Given the description of an element on the screen output the (x, y) to click on. 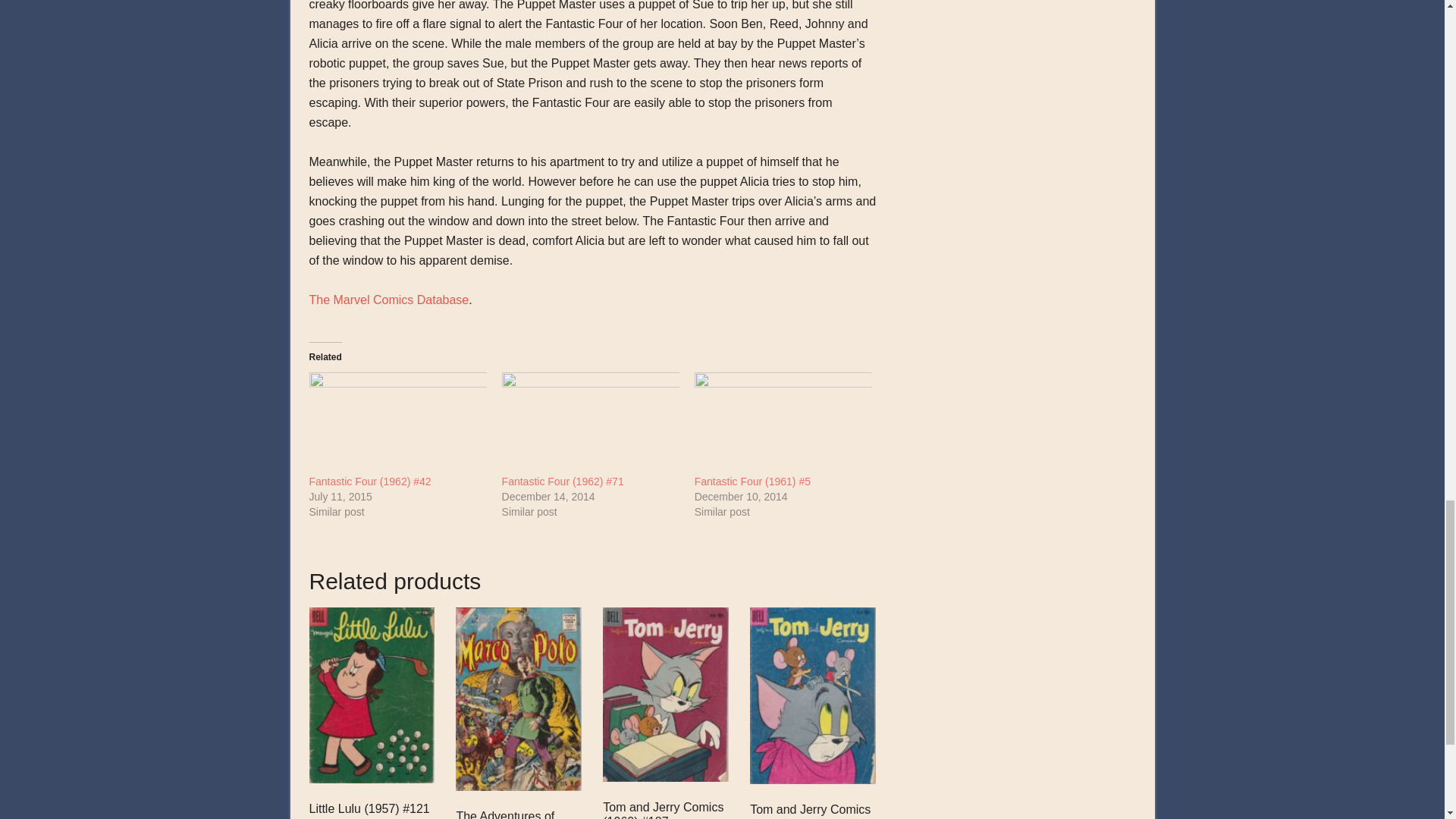
The Marvel Comics Database (388, 299)
